Given the description of an element on the screen output the (x, y) to click on. 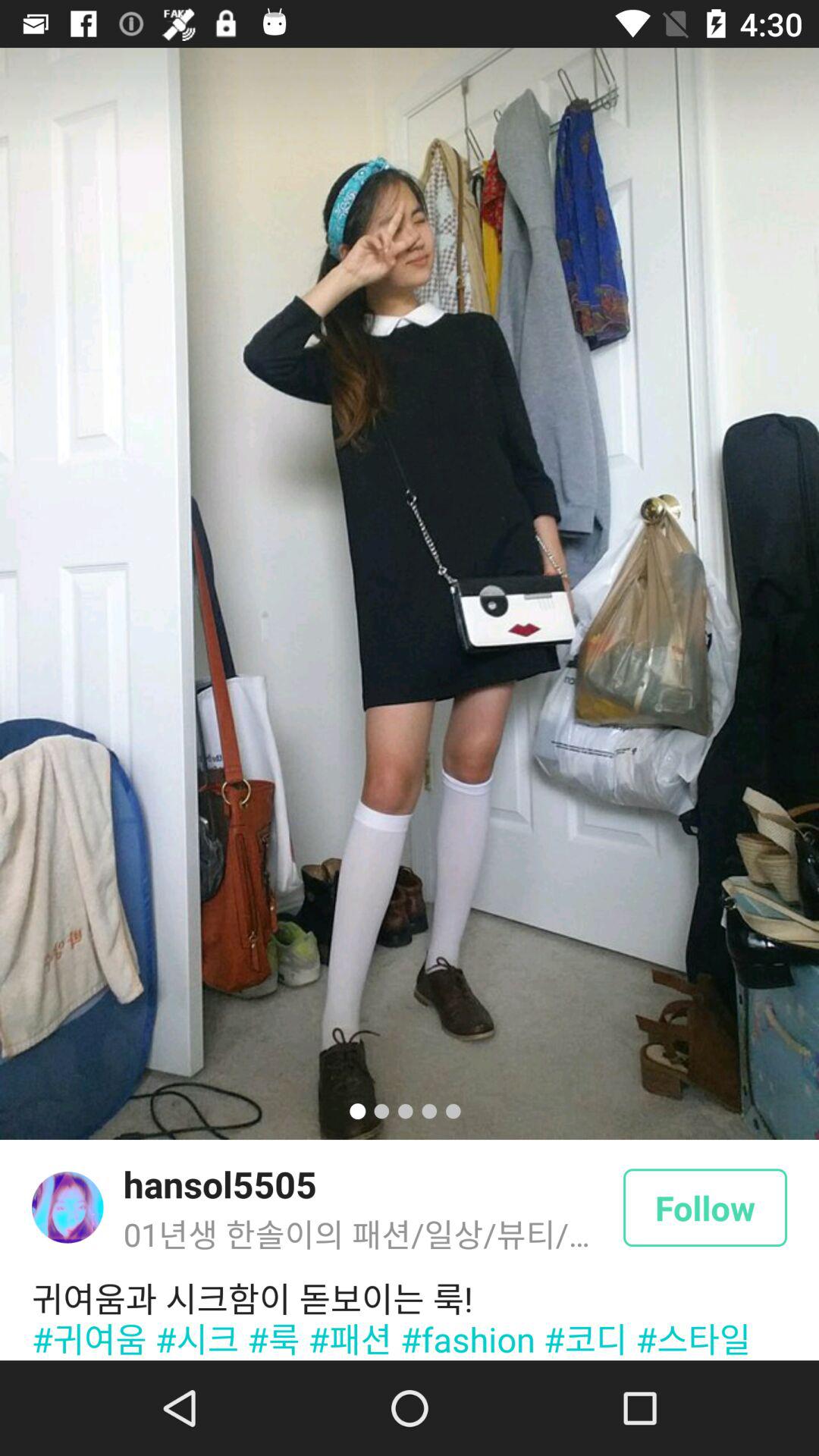
tap the icon at the center (409, 593)
